Given the description of an element on the screen output the (x, y) to click on. 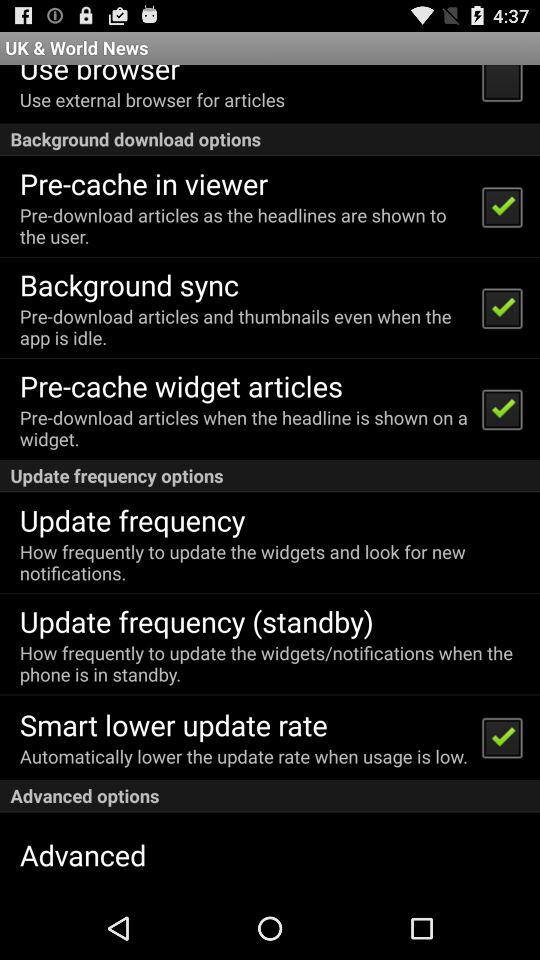
tap the item below use external browser icon (270, 138)
